Given the description of an element on the screen output the (x, y) to click on. 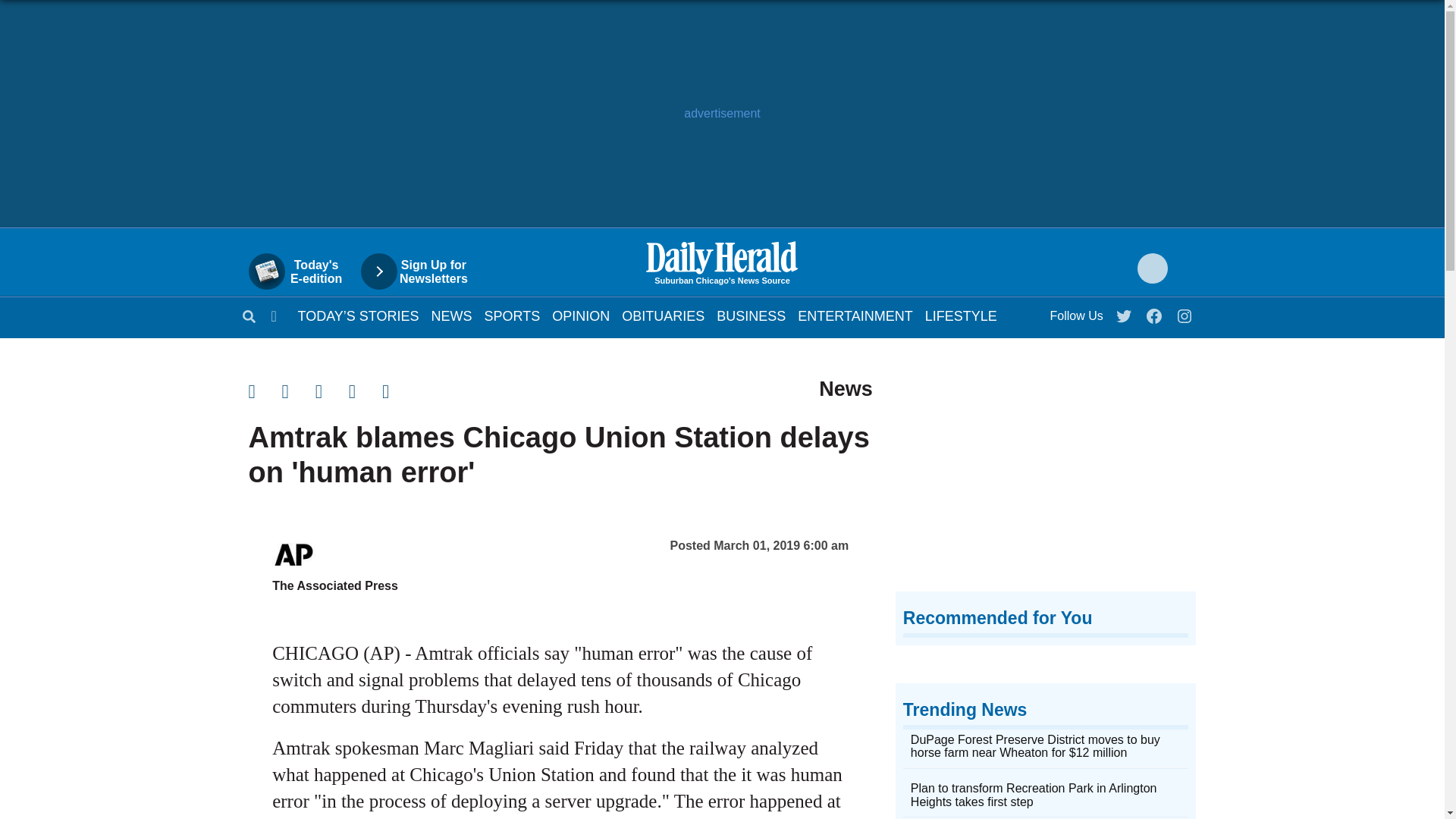
Entertainment (854, 315)
Lifestyle (960, 315)
OPINION (580, 315)
OBITUARIES (662, 315)
Opinion (580, 315)
News (450, 315)
Instagram (1184, 312)
Signup Widget Embed (1045, 479)
Sports (512, 315)
Share via Email (332, 391)
